Given the description of an element on the screen output the (x, y) to click on. 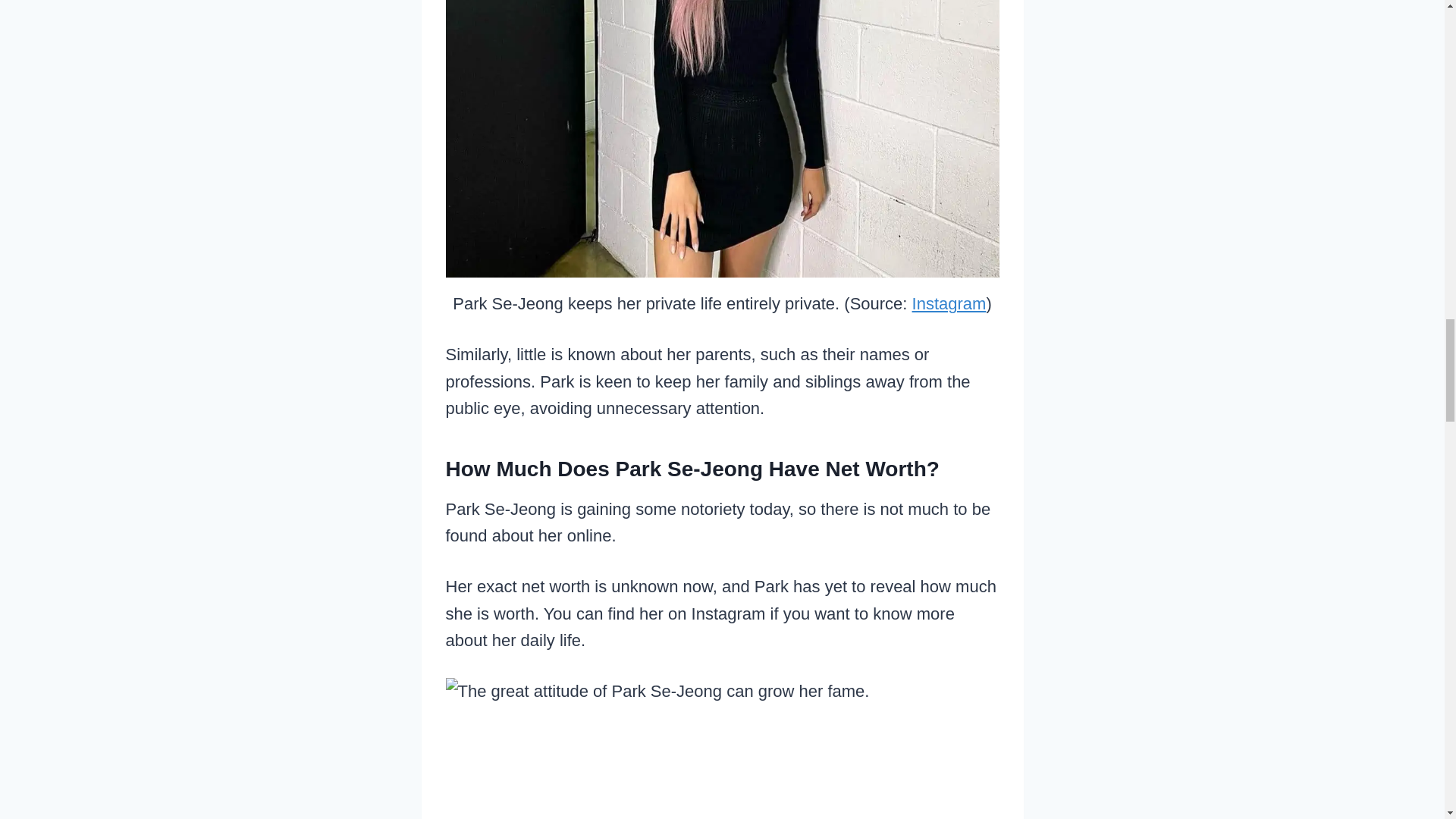
Instagram (949, 303)
